Given the description of an element on the screen output the (x, y) to click on. 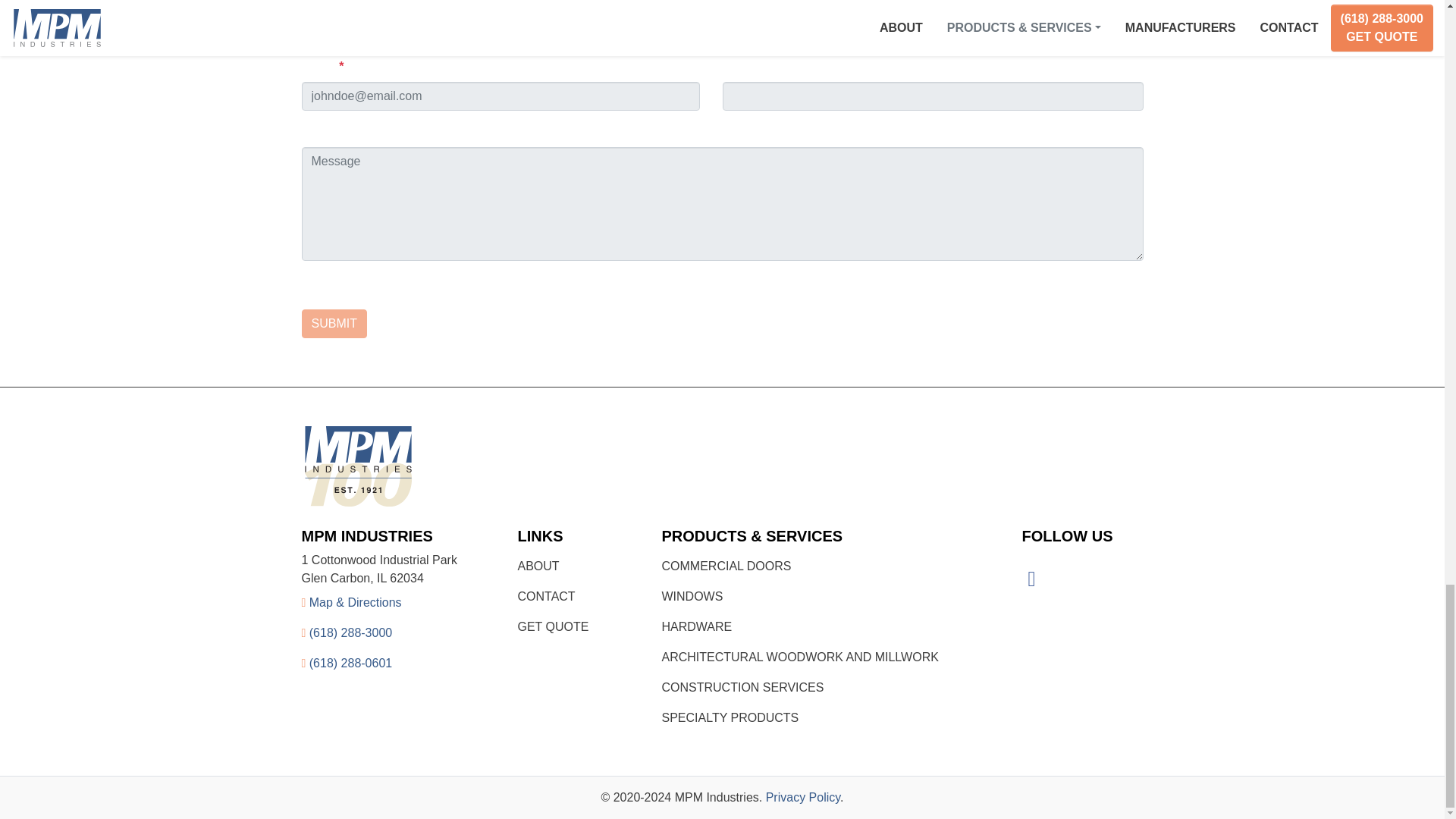
CONTACT (545, 595)
MPM Industries (721, 466)
Submit (333, 323)
ABOUT (537, 565)
COMMERCIAL DOORS (725, 565)
Submit (333, 323)
GET QUOTE (552, 626)
